Given the description of an element on the screen output the (x, y) to click on. 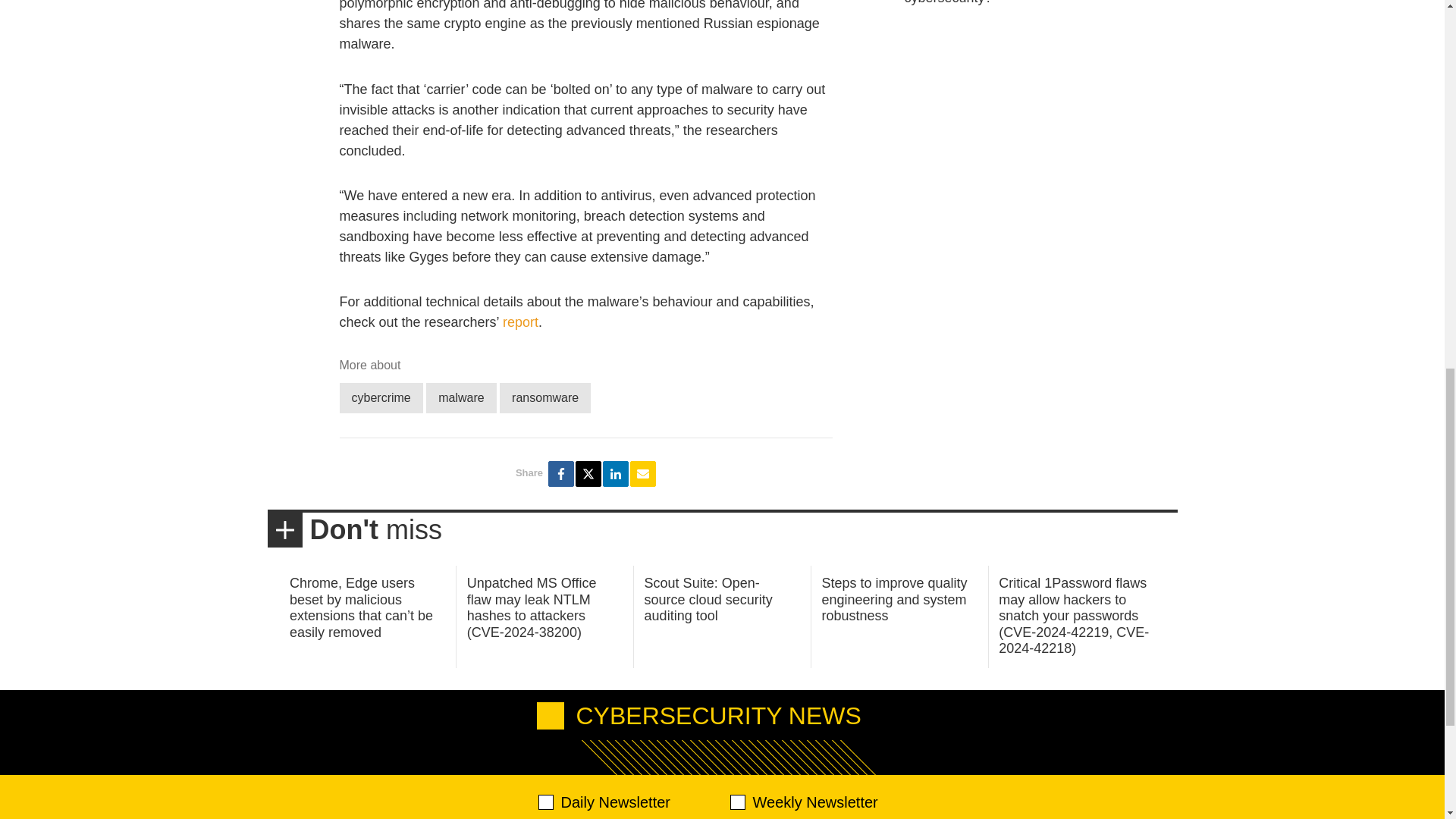
malware (461, 397)
cybercrime (381, 397)
eBook: Do you have what it takes to lead in cybersecurity? (1035, 2)
cybercrime (381, 397)
ransomware (545, 397)
malware (461, 397)
d2d471aafa (736, 801)
